Given the description of an element on the screen output the (x, y) to click on. 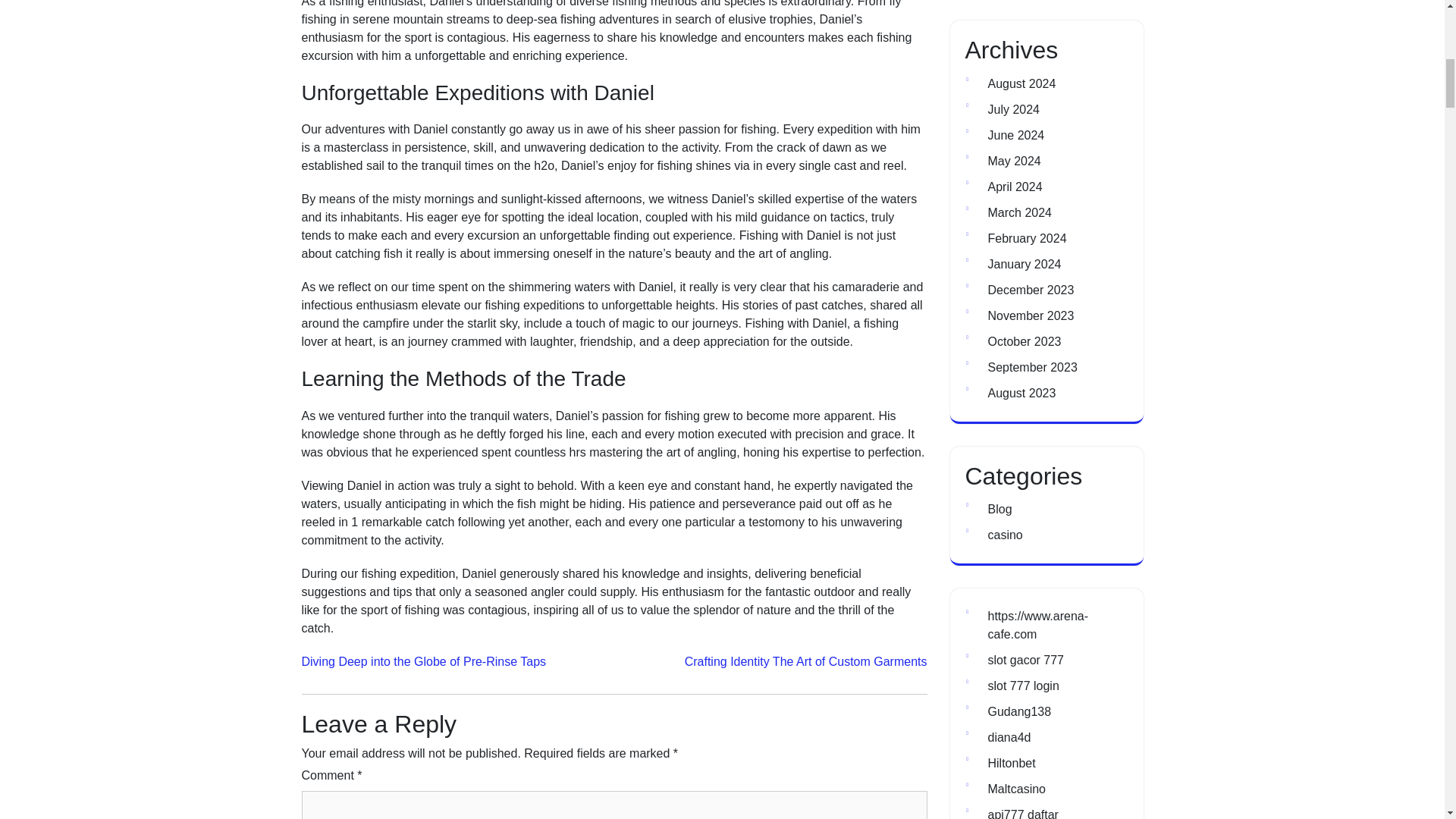
August 2024 (1021, 83)
December 2023 (1030, 289)
November 2023 (1030, 315)
Crafting Identity The Art of Custom Garments (805, 661)
September 2023 (1032, 367)
slot gacor 777 (1025, 659)
Blog (999, 508)
July 2024 (1013, 109)
Diving Deep into the Globe of Pre-Rinse Taps (424, 661)
January 2024 (1024, 264)
